Given the description of an element on the screen output the (x, y) to click on. 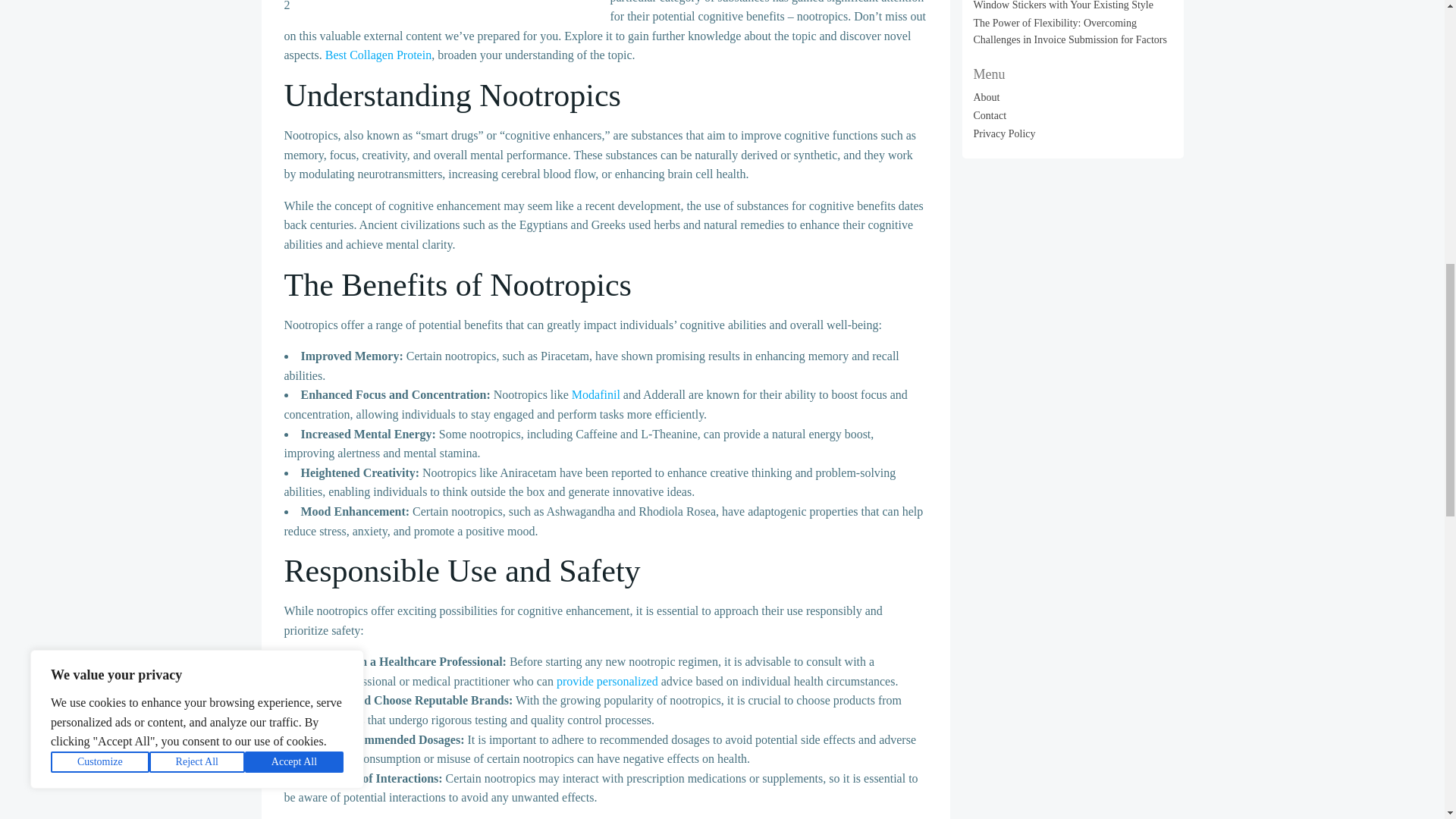
Best Collagen Protein (377, 54)
provide personalized (607, 680)
Modafinil (596, 394)
